Given the description of an element on the screen output the (x, y) to click on. 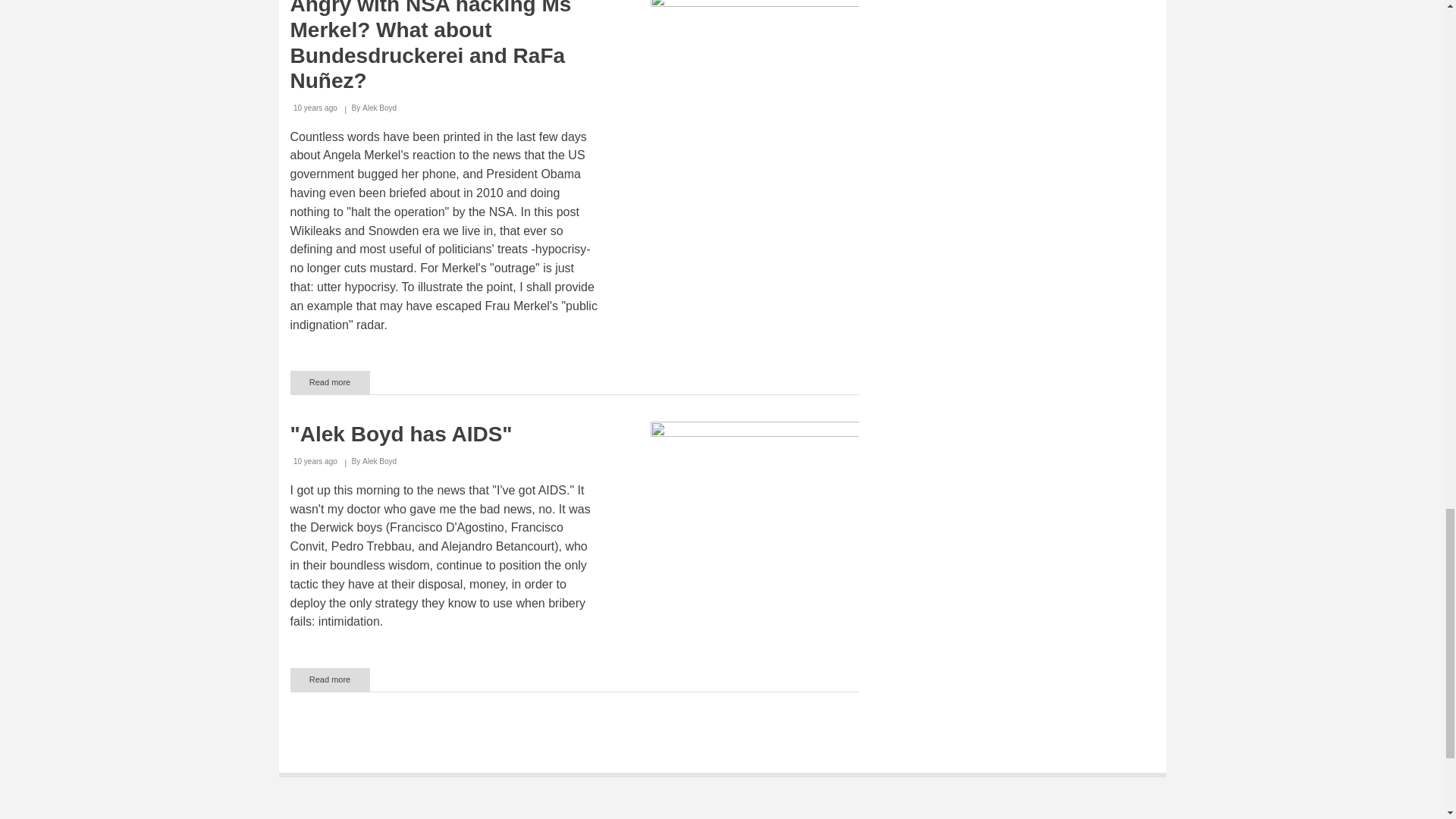
"Alek Boyd has AIDS" (329, 679)
